Given the description of an element on the screen output the (x, y) to click on. 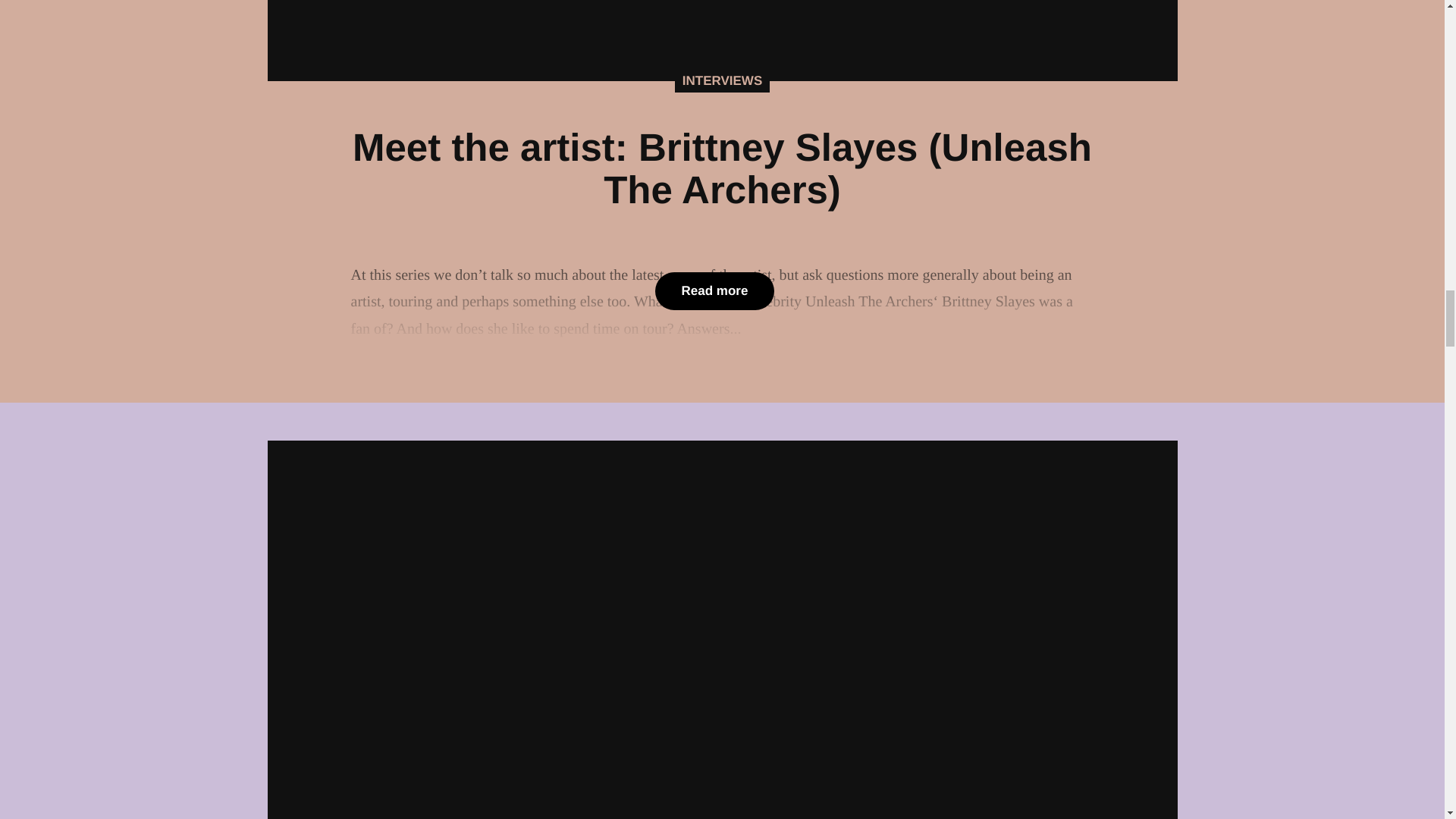
INTERVIEWS (722, 80)
